Given the description of an element on the screen output the (x, y) to click on. 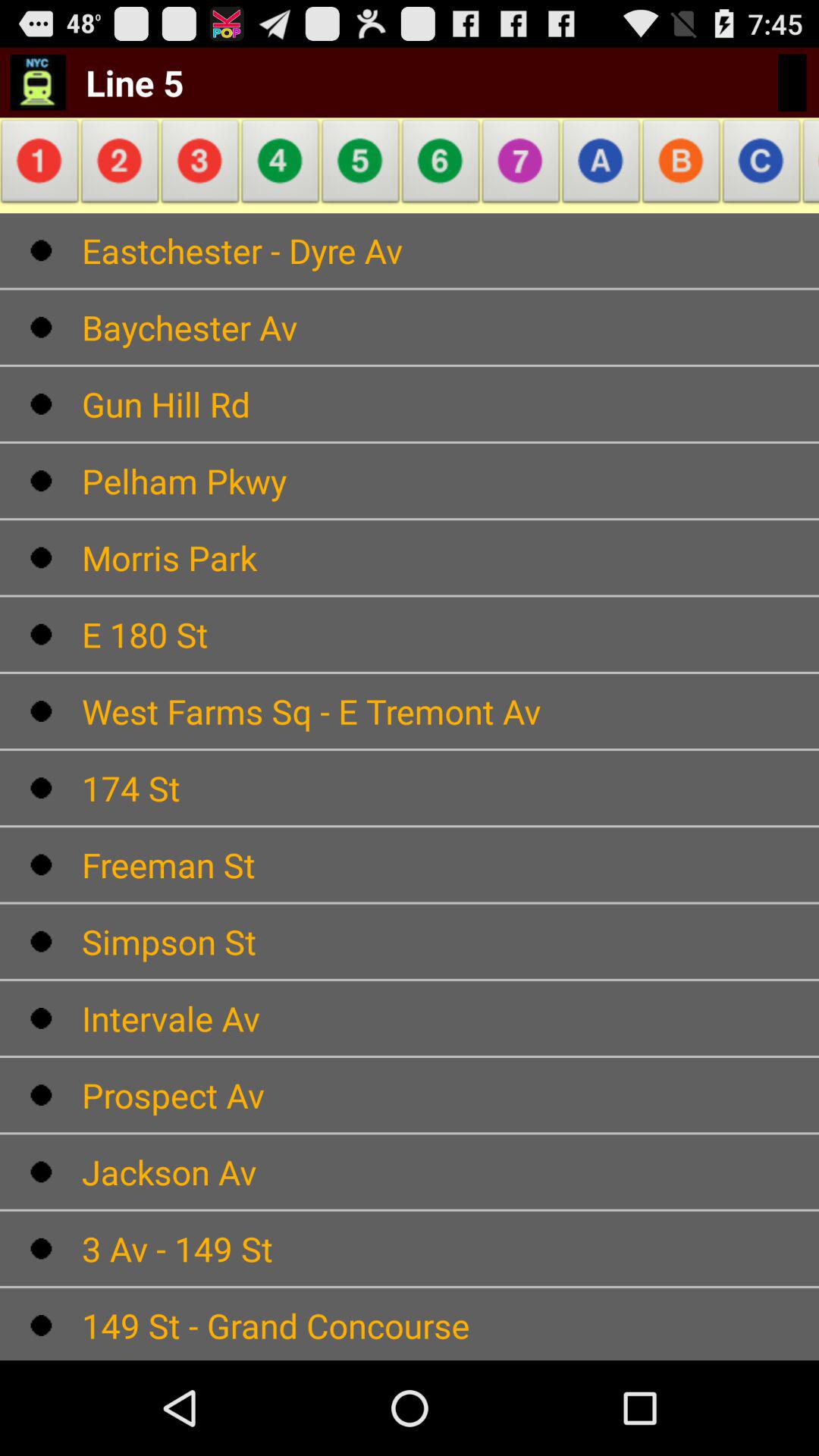
launch the app below line 5 item (200, 165)
